Given the description of an element on the screen output the (x, y) to click on. 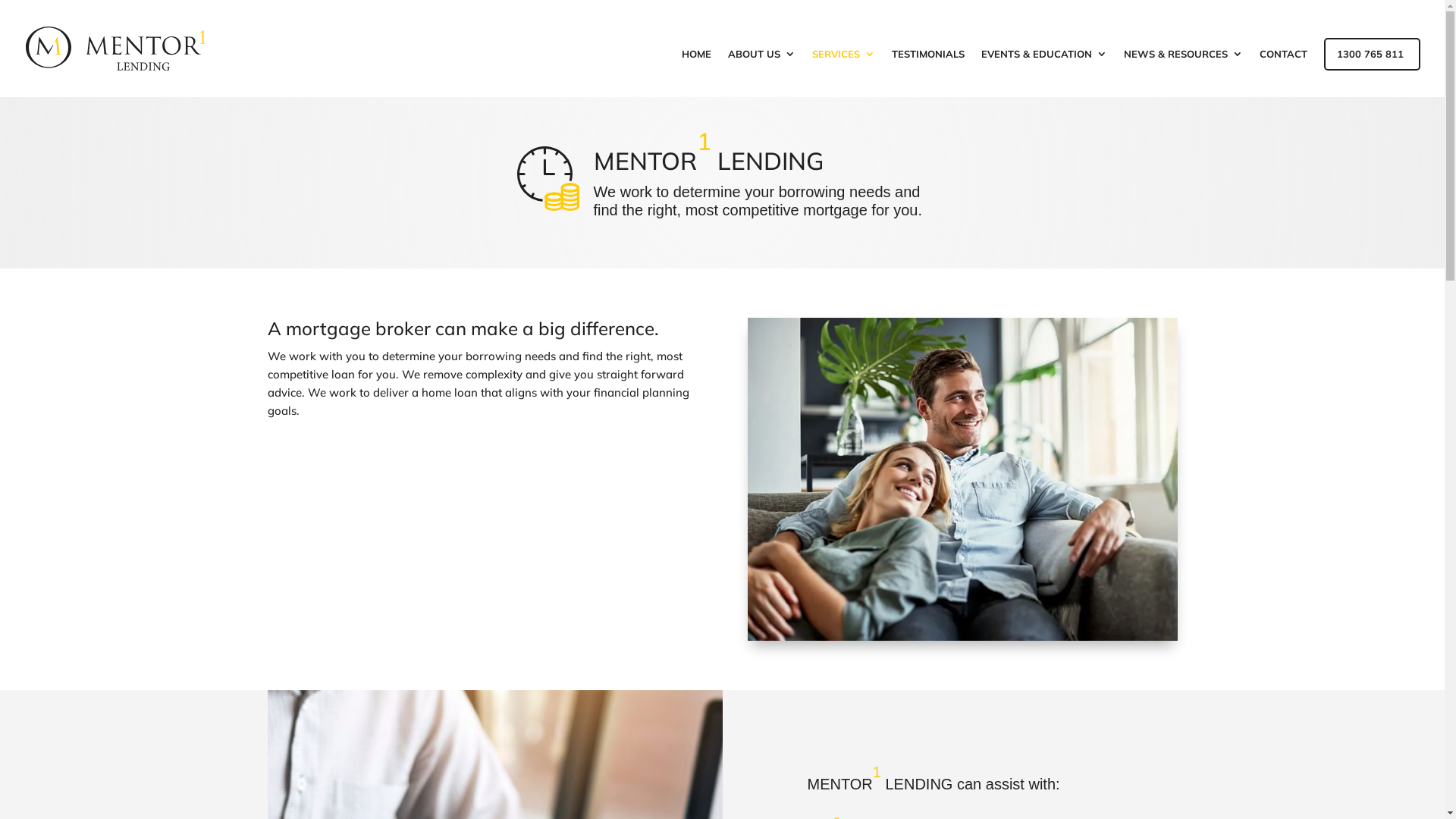
NEWS & RESOURCES Element type: text (1182, 72)
TESTIMONIALS Element type: text (927, 72)
1300 765 811 Element type: text (1369, 72)
HOME Element type: text (696, 72)
EVENTS & EDUCATION Element type: text (1044, 72)
ABOUT US Element type: text (761, 72)
SERVICES Element type: text (843, 72)
CONTACT Element type: text (1283, 72)
